Given the description of an element on the screen output the (x, y) to click on. 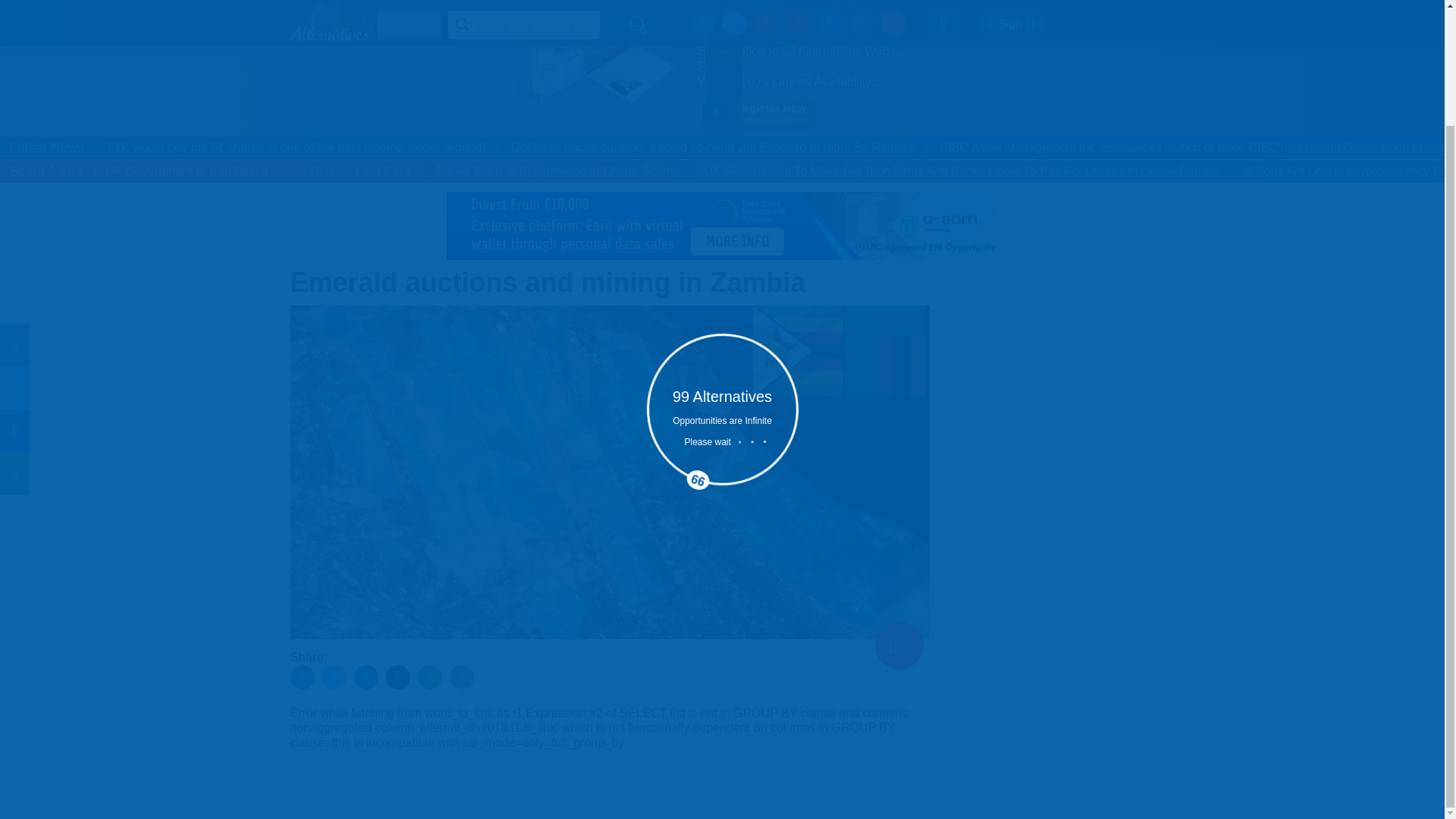
Play Audio (898, 645)
